Given the description of an element on the screen output the (x, y) to click on. 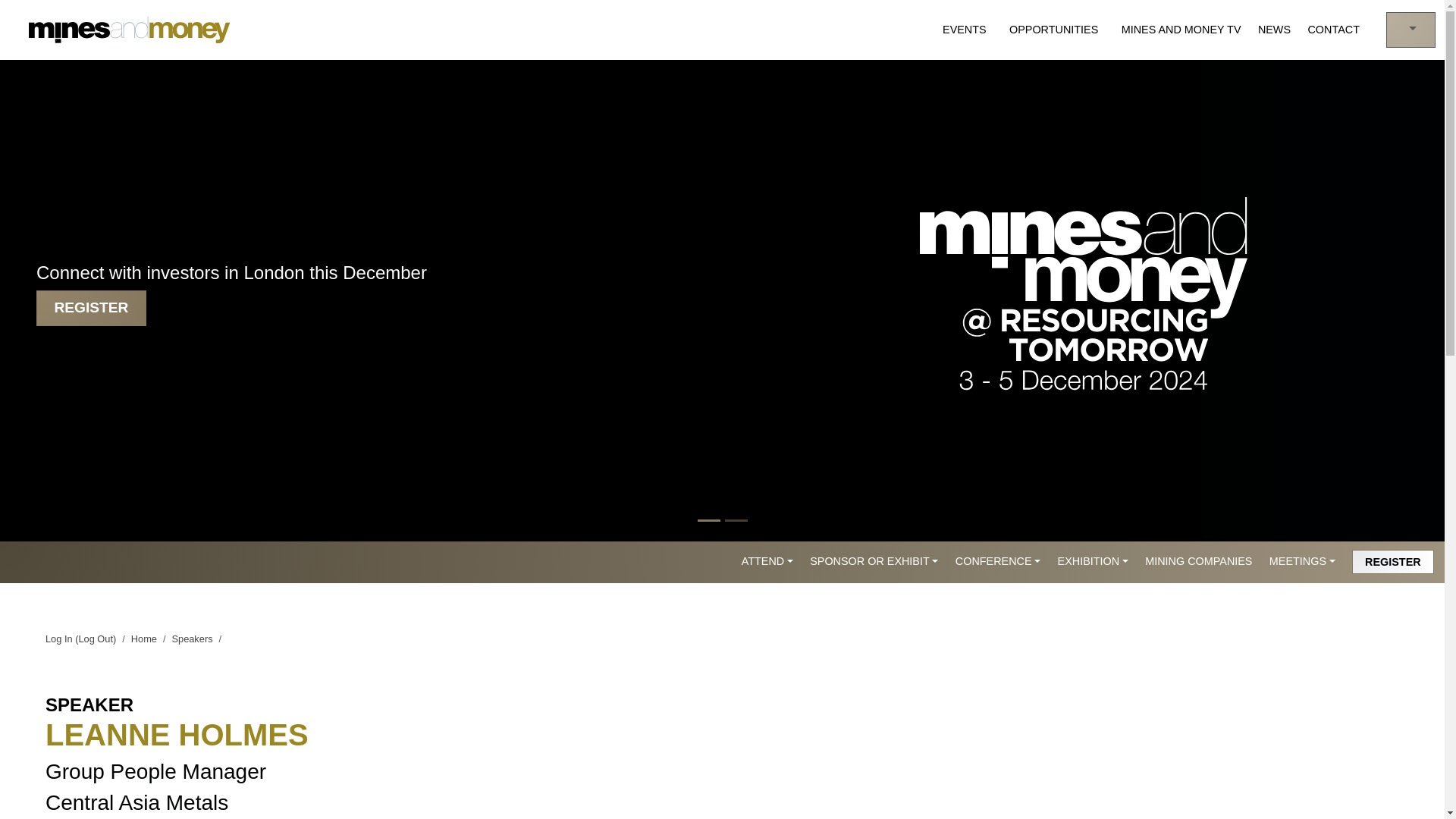
Events (967, 30)
News (1273, 30)
NEWS (1273, 30)
Opportunities (1056, 30)
MINES AND MONEY TV (1181, 30)
EVENTS (967, 30)
Contact (1332, 30)
CONTACT (1332, 30)
Mines and Money TV (1181, 30)
OPPORTUNITIES (1056, 30)
